Given the description of an element on the screen output the (x, y) to click on. 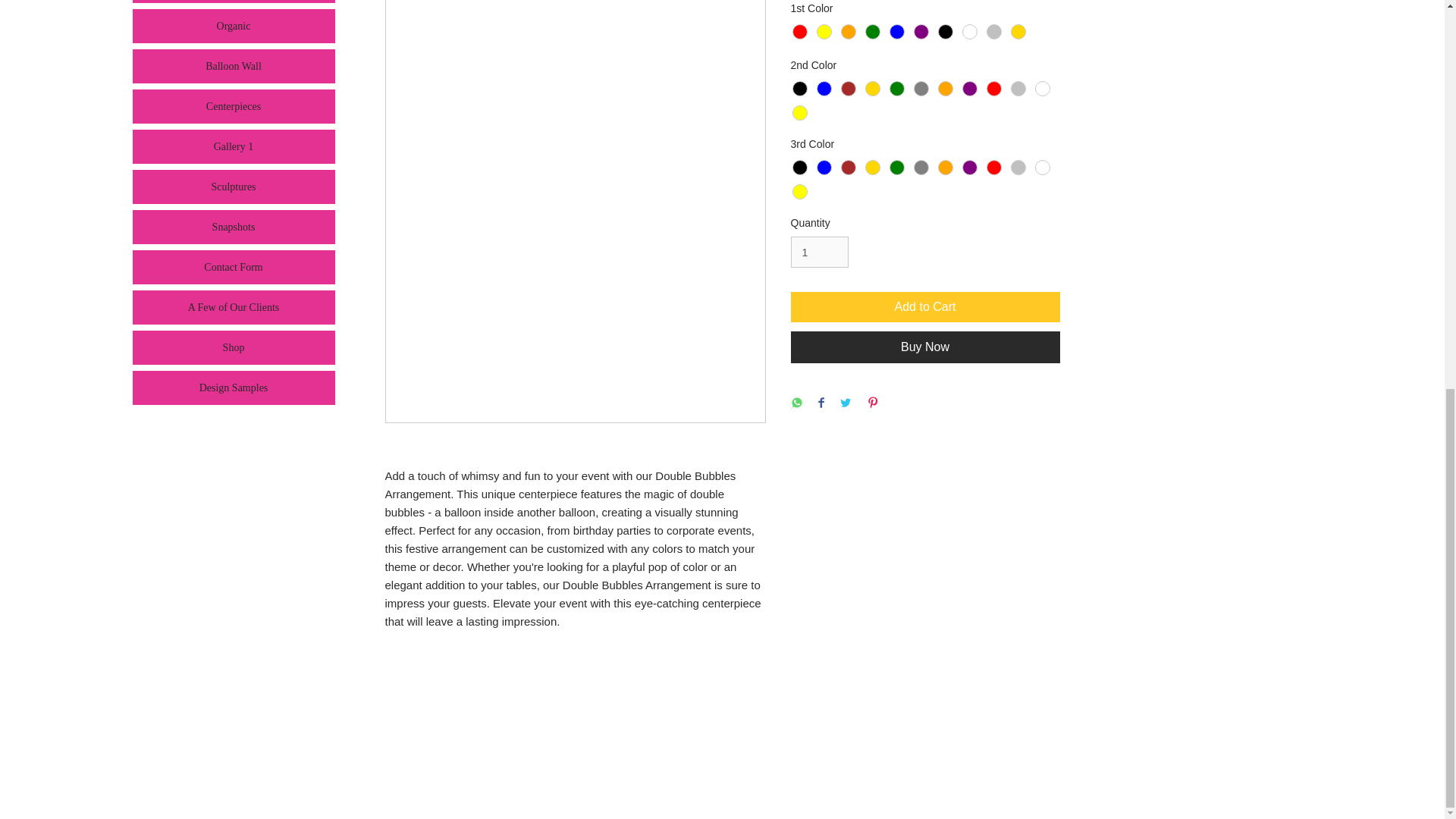
Buy Now (924, 347)
Columns (233, 1)
Balloon Wall (233, 66)
Centerpieces (233, 106)
Add to Cart (924, 306)
Gallery 1 (233, 146)
Shop (233, 347)
Sculptures (233, 186)
Organic (233, 26)
Snapshots (233, 226)
Design Samples (233, 387)
A Few of Our Clients (233, 307)
Contact Form (233, 267)
